Given the description of an element on the screen output the (x, y) to click on. 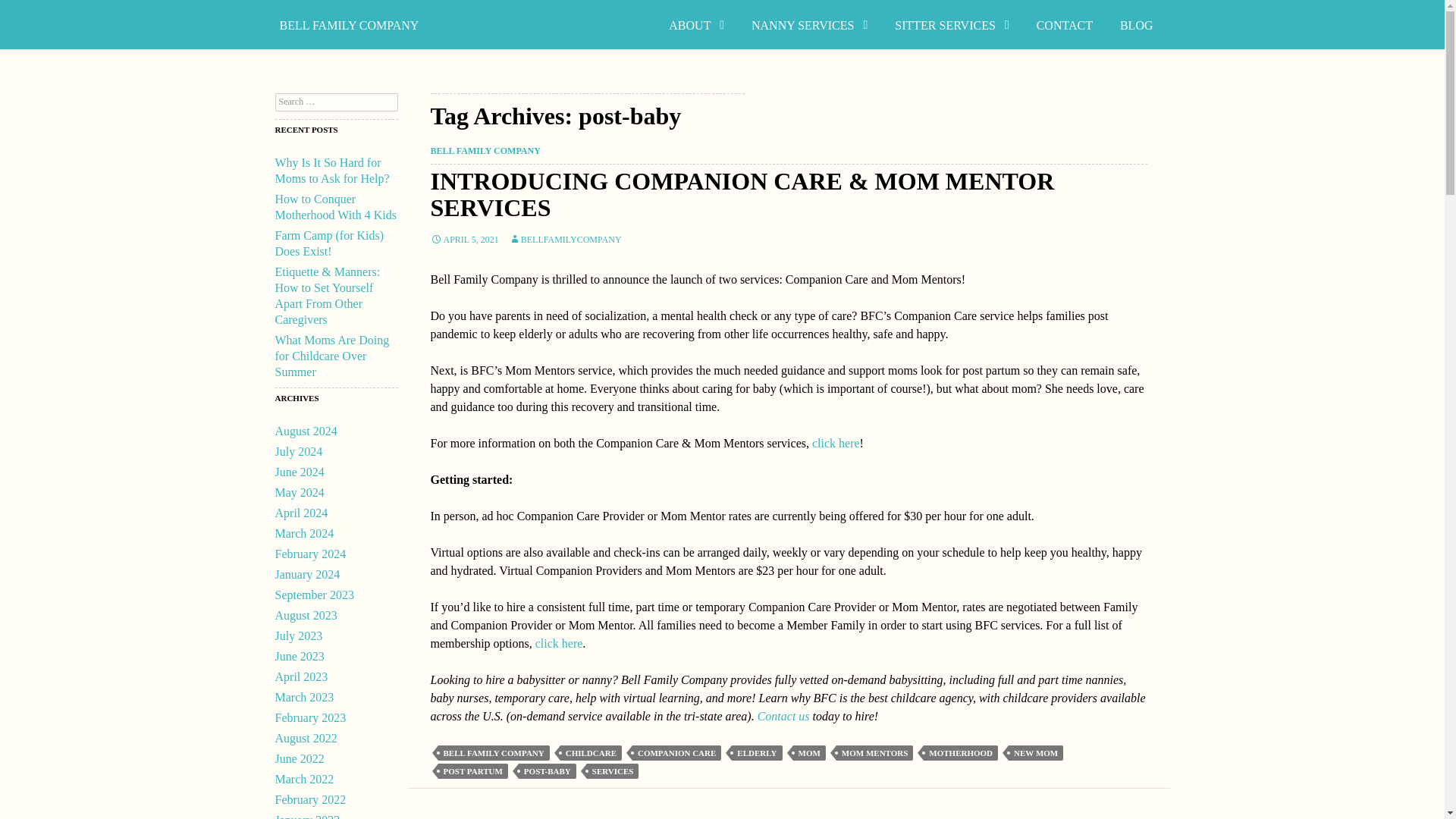
NANNY SERVICES (809, 25)
BLOG (1137, 25)
CONTACT (1065, 25)
BELL FAMILY COMPANY (349, 24)
Sitter Services (951, 25)
SITTER SERVICES (951, 25)
Nanny Services (809, 25)
ABOUT (696, 25)
About (696, 25)
